Given the description of an element on the screen output the (x, y) to click on. 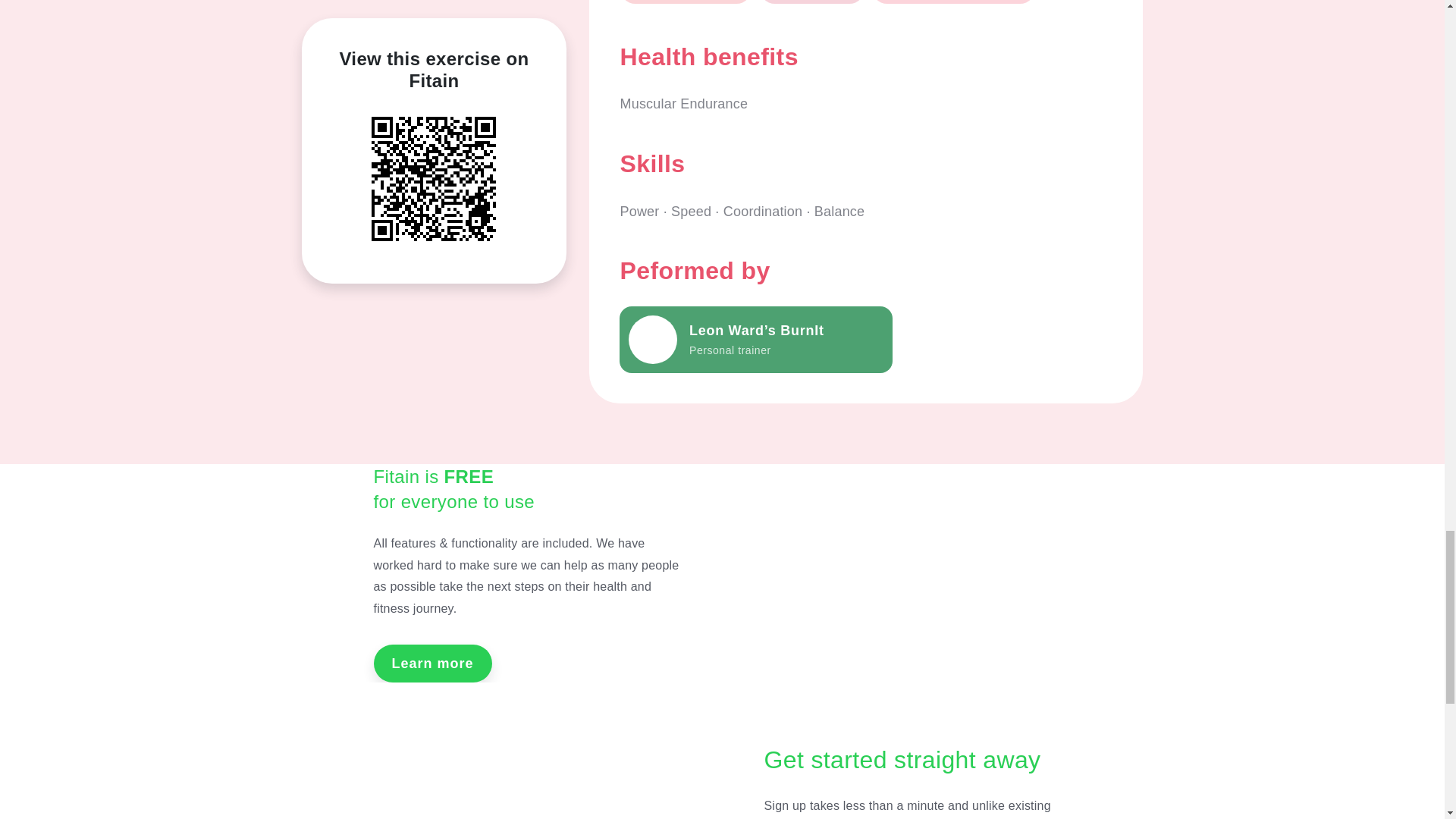
Build muscle (811, 2)
Functional fitness (686, 2)
Learn more (432, 663)
